Given the description of an element on the screen output the (x, y) to click on. 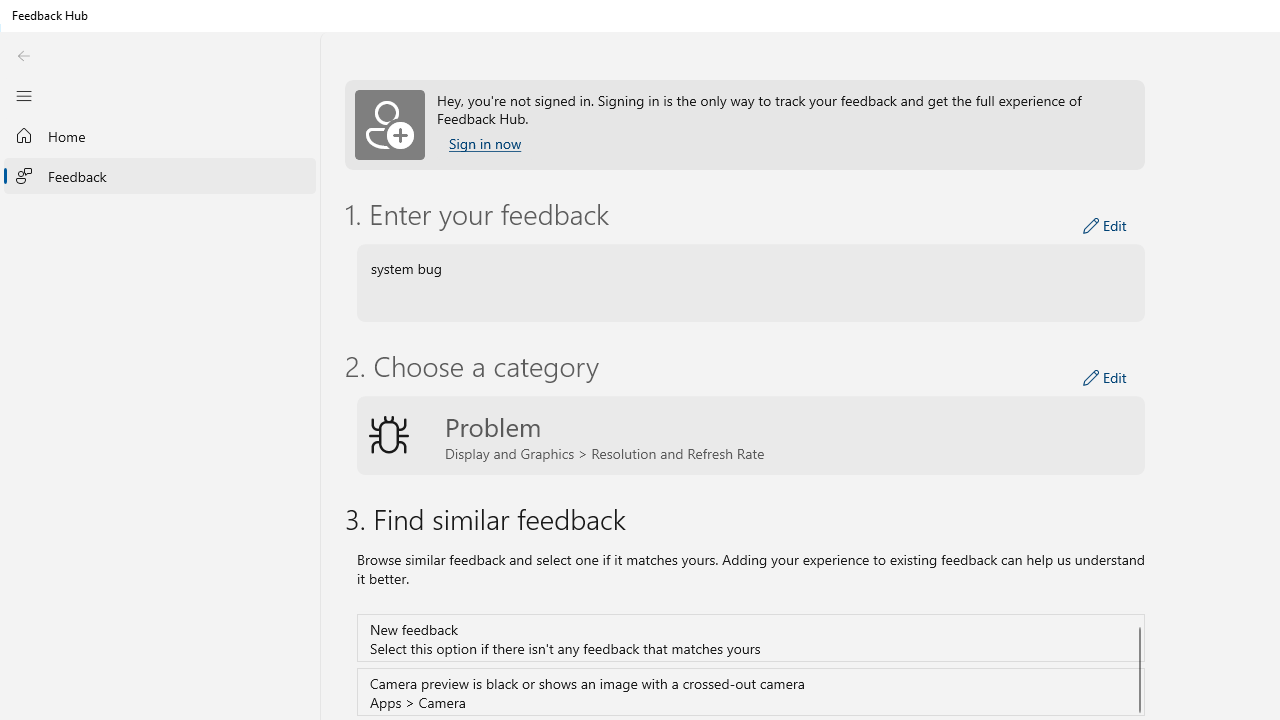
Edit feedback type and category (1105, 377)
Sign in now (484, 143)
Feedback (159, 175)
Edit your feedback details (1105, 225)
Close Navigation (23, 95)
